Given the description of an element on the screen output the (x, y) to click on. 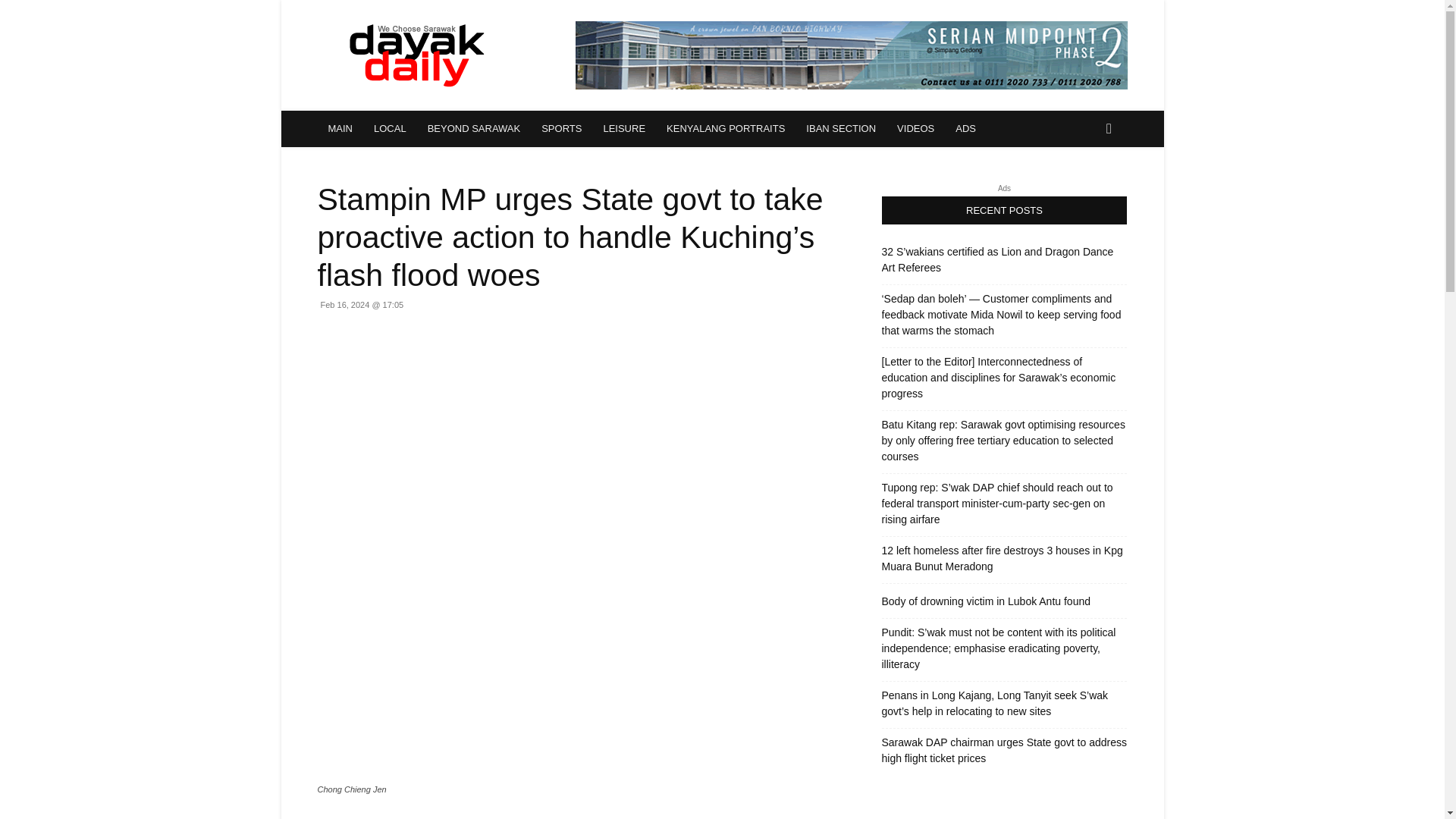
LOCAL (389, 128)
KENYALANG PORTRAITS (725, 128)
BEYOND SARAWAK (473, 128)
ADS (965, 128)
Search (1085, 189)
MAIN (339, 128)
LEISURE (624, 128)
SPORTS (561, 128)
IBAN SECTION (840, 128)
VIDEOS (915, 128)
